Given the description of an element on the screen output the (x, y) to click on. 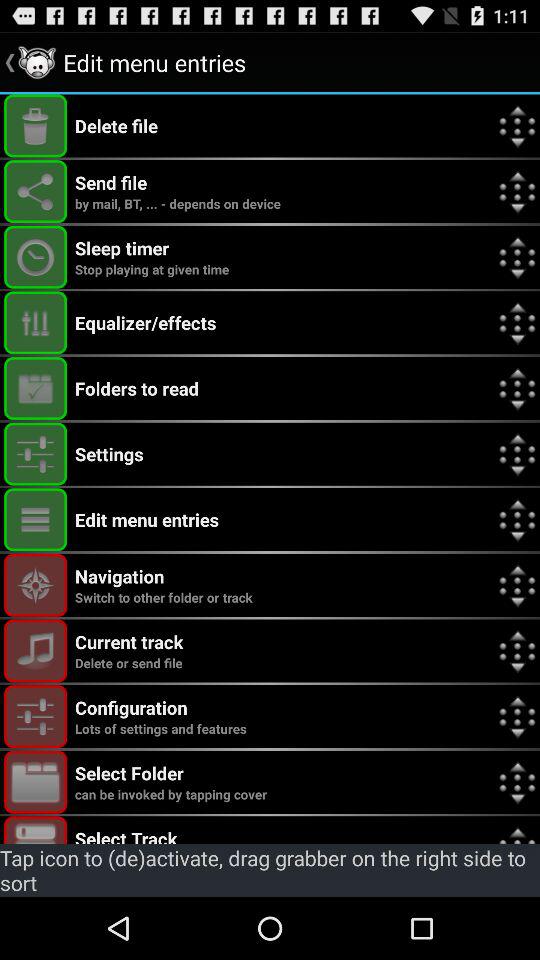
check edit menu (35, 519)
